Given the description of an element on the screen output the (x, y) to click on. 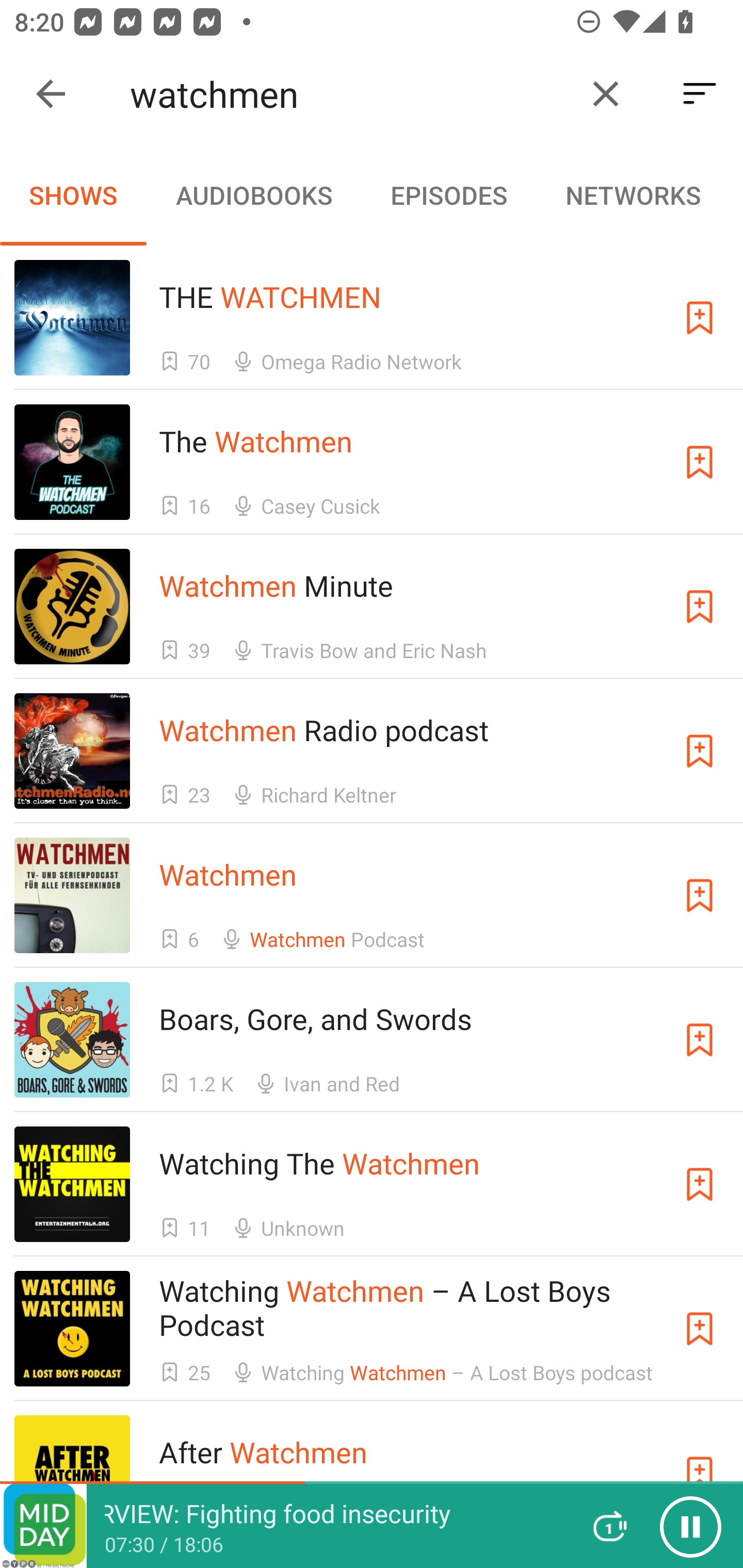
Collapse (50, 93)
Clear query (605, 93)
Sort By (699, 93)
watchmen (349, 94)
SHOWS (73, 195)
AUDIOBOOKS (253, 195)
EPISODES (448, 195)
NETWORKS (632, 195)
Subscribe (699, 317)
Subscribe (699, 462)
Subscribe (699, 606)
Subscribe (699, 751)
Watchmen Watchmen  6  Watchmen Podcast Subscribe (371, 895)
Subscribe (699, 895)
Subscribe (699, 1039)
